Given the description of an element on the screen output the (x, y) to click on. 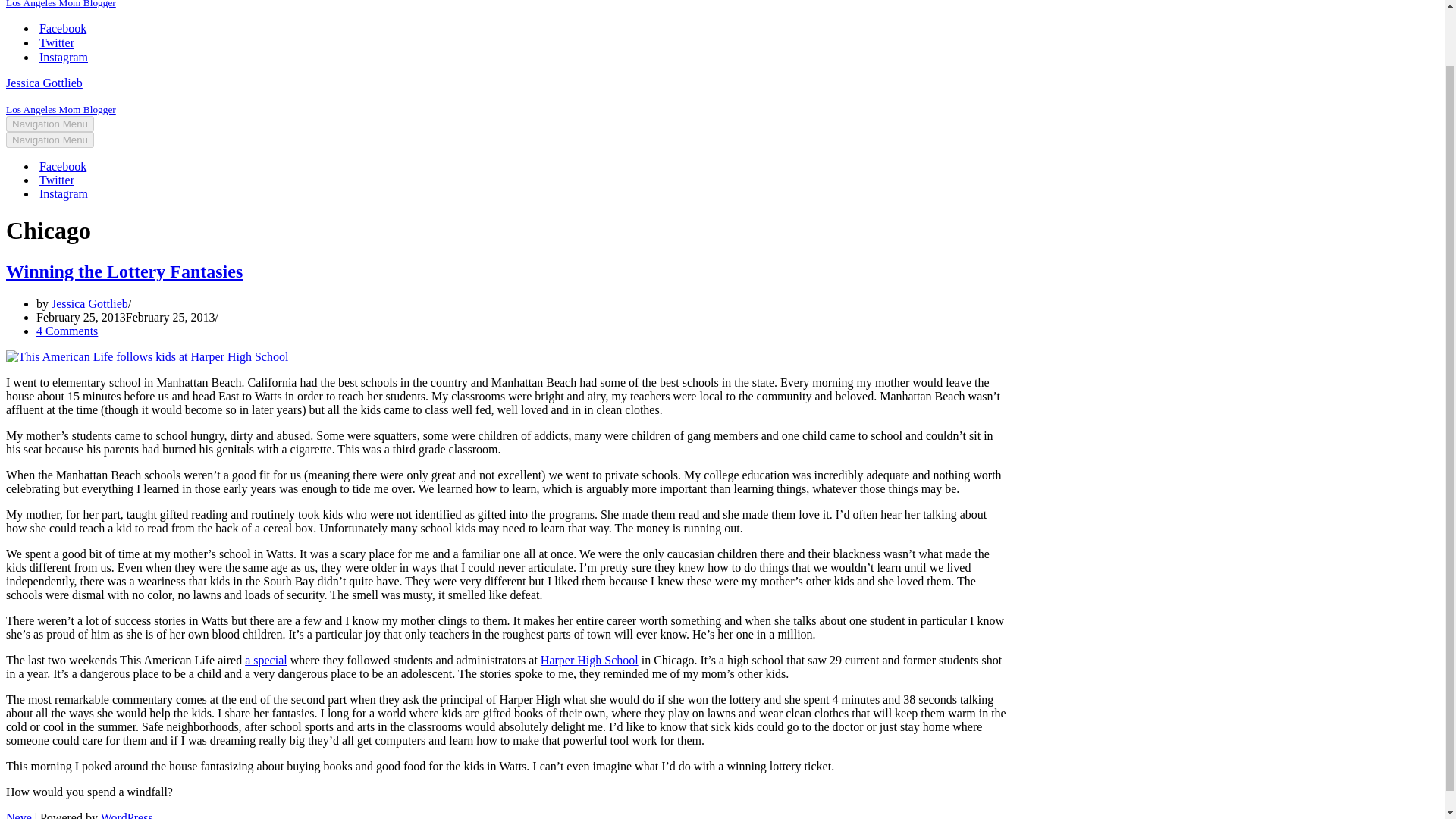
4 Comments (66, 330)
Twitter (56, 180)
Harper High School Part Two (589, 659)
Facebook (62, 166)
Harper High School Part One (265, 659)
Jessica Gottlieb (89, 303)
Instagram (63, 56)
Posts by Jessica Gottlieb (89, 303)
Facebook (62, 28)
a special (265, 659)
Twitter (56, 42)
Navigation Menu (49, 139)
Instagram (63, 193)
Harper High School (589, 659)
Winning the Lottery Fantasies (124, 271)
